Given the description of an element on the screen output the (x, y) to click on. 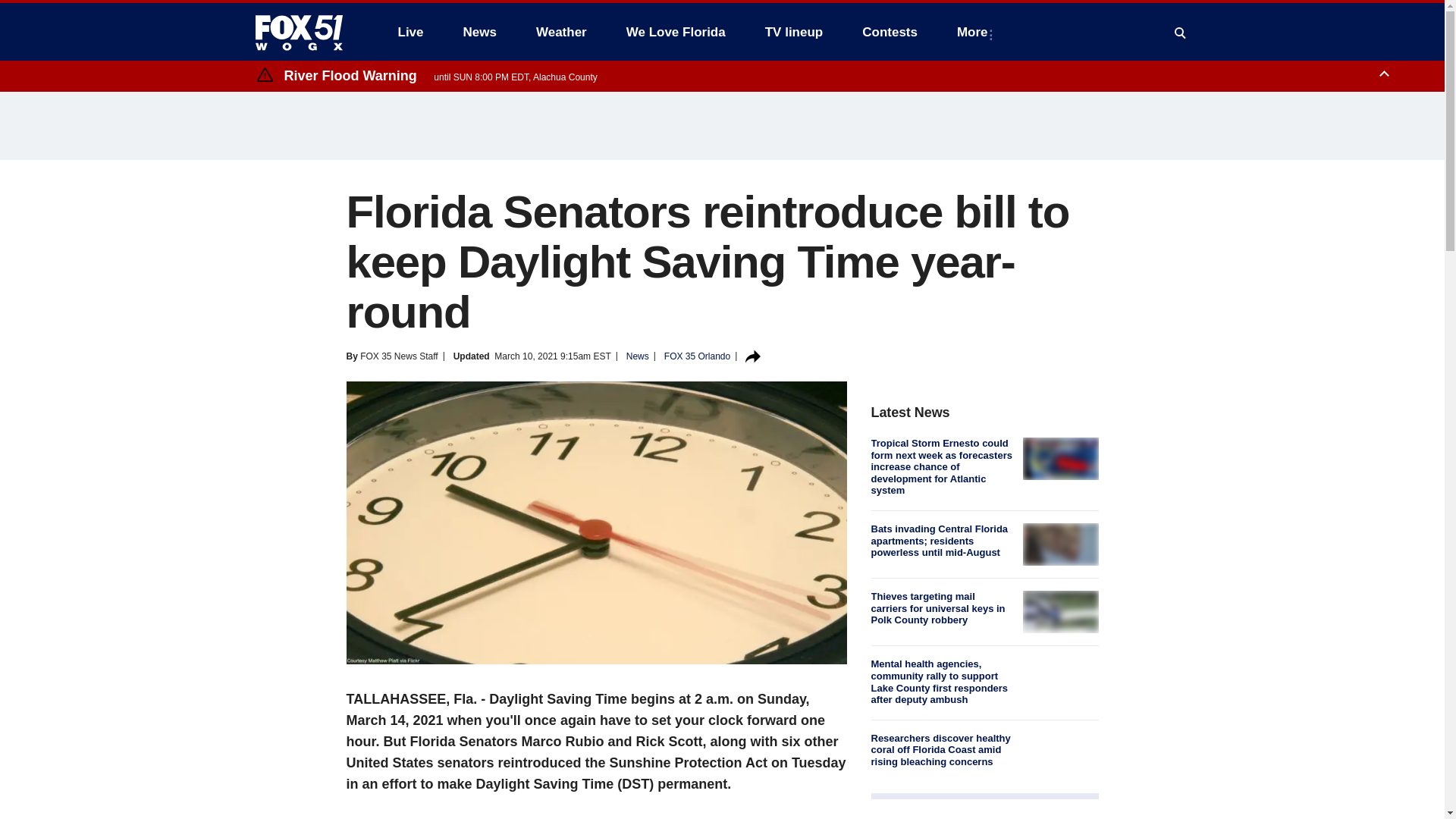
We Love Florida (676, 32)
Contests (890, 32)
More (975, 32)
Live (410, 32)
TV lineup (793, 32)
Weather (561, 32)
News (479, 32)
